Given the description of an element on the screen output the (x, y) to click on. 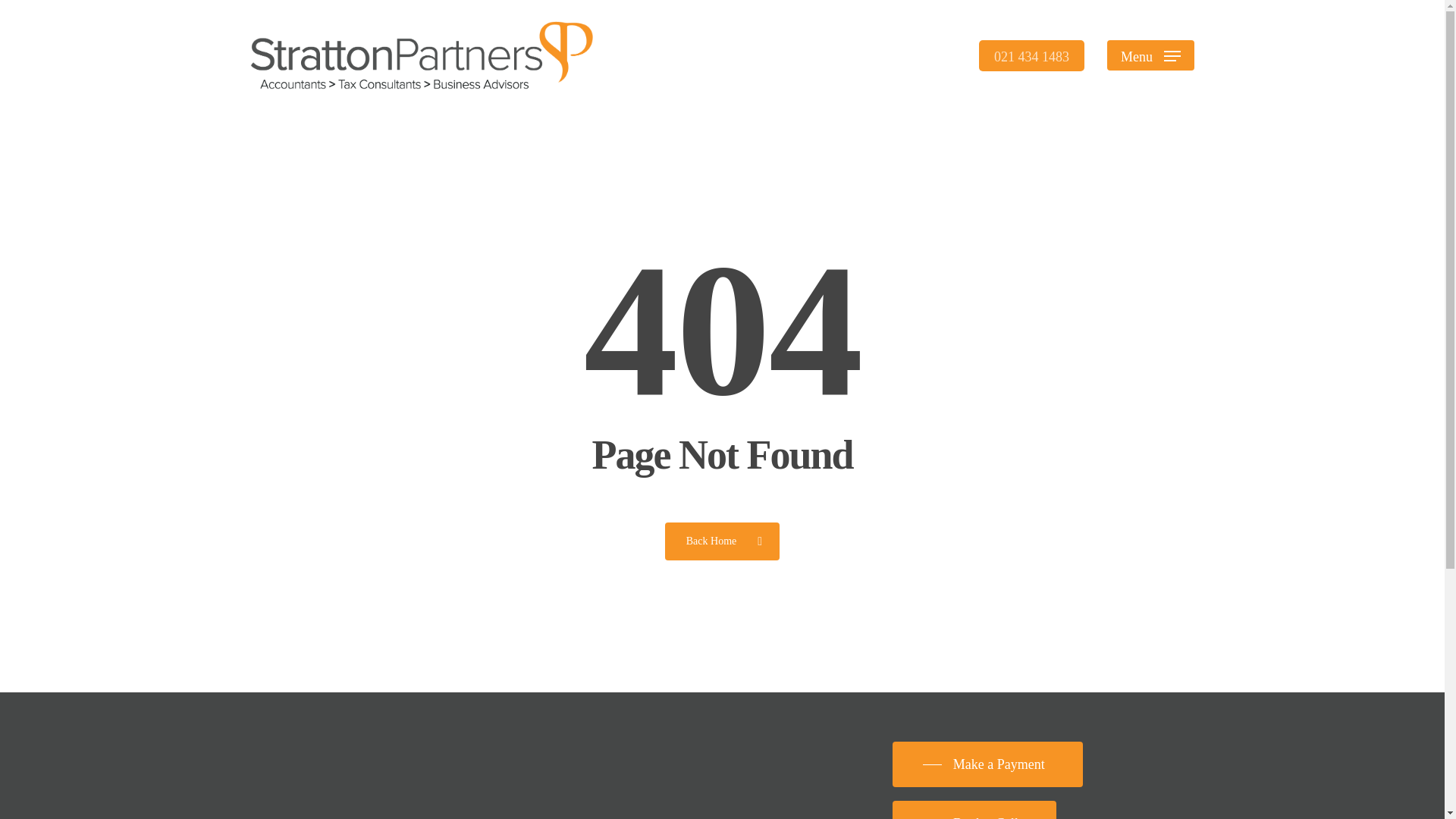
Make a Payment (987, 764)
021 434 1483 (1031, 54)
Menu (1149, 54)
Back Home (721, 540)
Book a Call (974, 814)
